Given the description of an element on the screen output the (x, y) to click on. 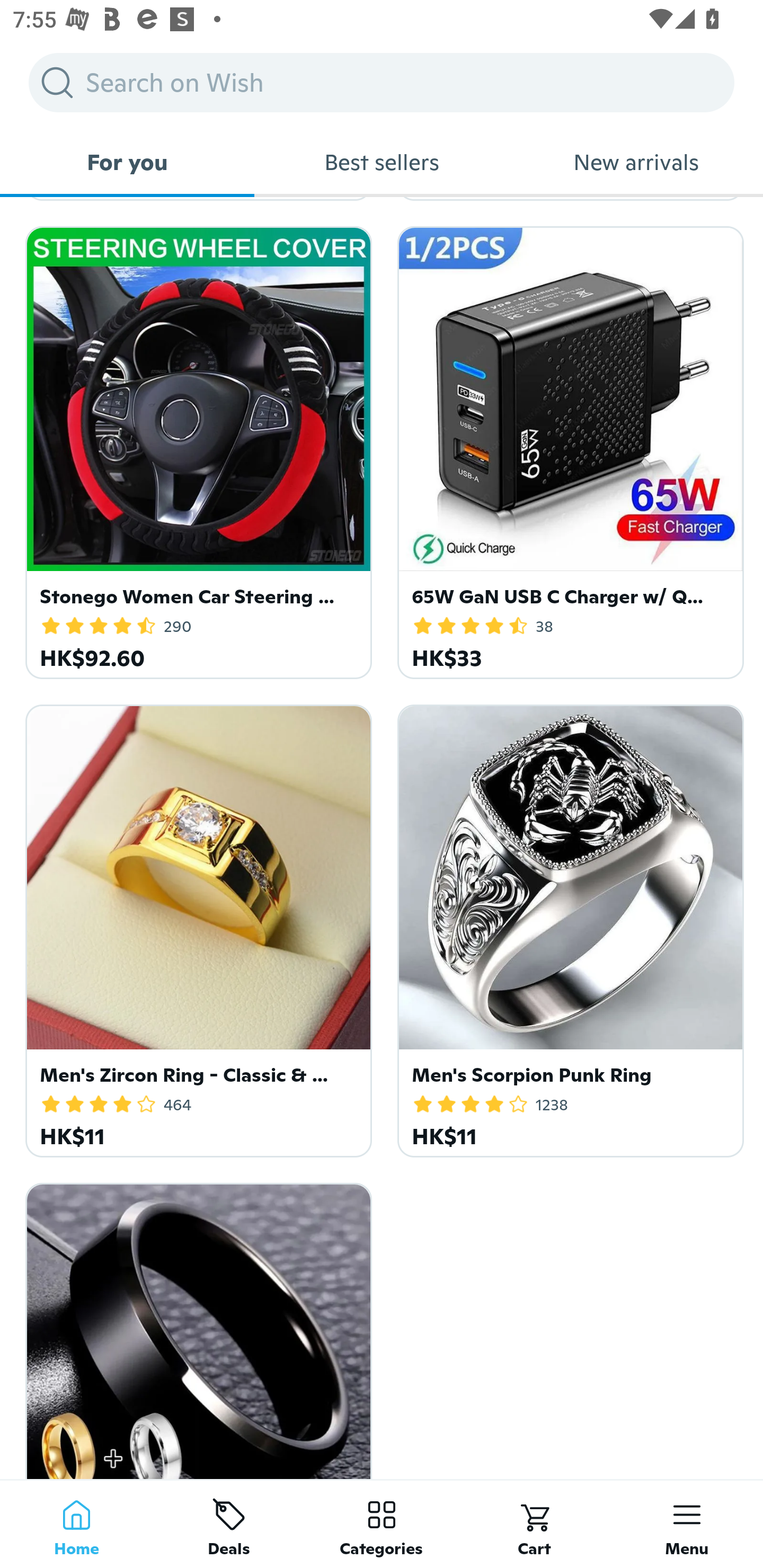
Search on Wish (381, 82)
For you (127, 161)
Best sellers (381, 161)
New arrivals (635, 161)
Men's Scorpion Punk Ring 4 Star Rating 1238 HK$11 (566, 927)
Home (76, 1523)
Deals (228, 1523)
Categories (381, 1523)
Cart (533, 1523)
Menu (686, 1523)
